Given the description of an element on the screen output the (x, y) to click on. 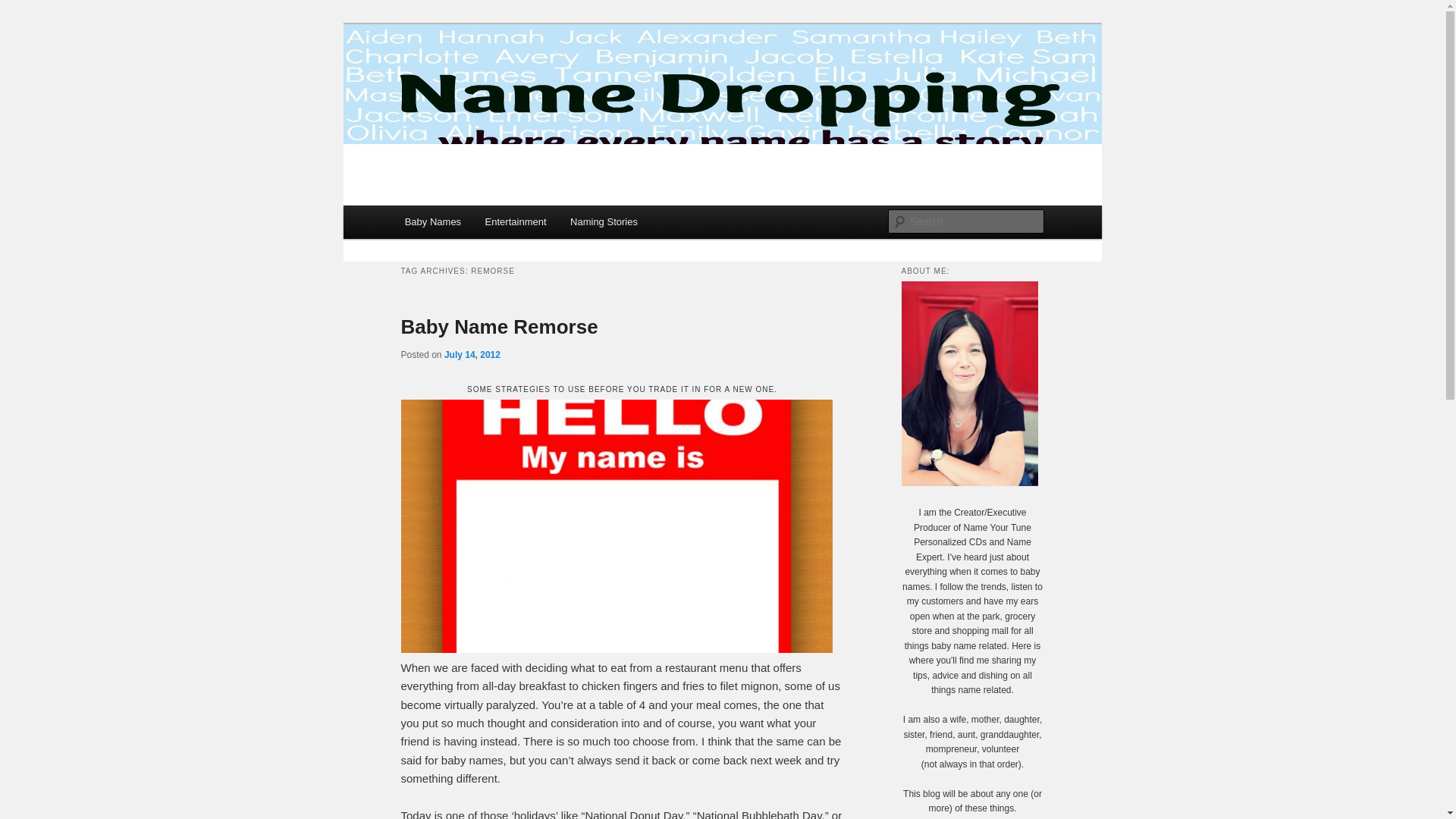
Name Dropping (484, 78)
Baby Name Remorse (498, 326)
Skip to primary content (472, 224)
Search (24, 8)
Baby Names (433, 221)
Skip to primary content (472, 224)
9:04 pm (472, 354)
Naming Stories (603, 221)
Permalink to Baby Name Remorse (498, 326)
Skip to secondary content (479, 224)
Name Dropping (484, 78)
July 14, 2012 (472, 354)
Skip to secondary content (479, 224)
Entertainment (515, 221)
